Given the description of an element on the screen output the (x, y) to click on. 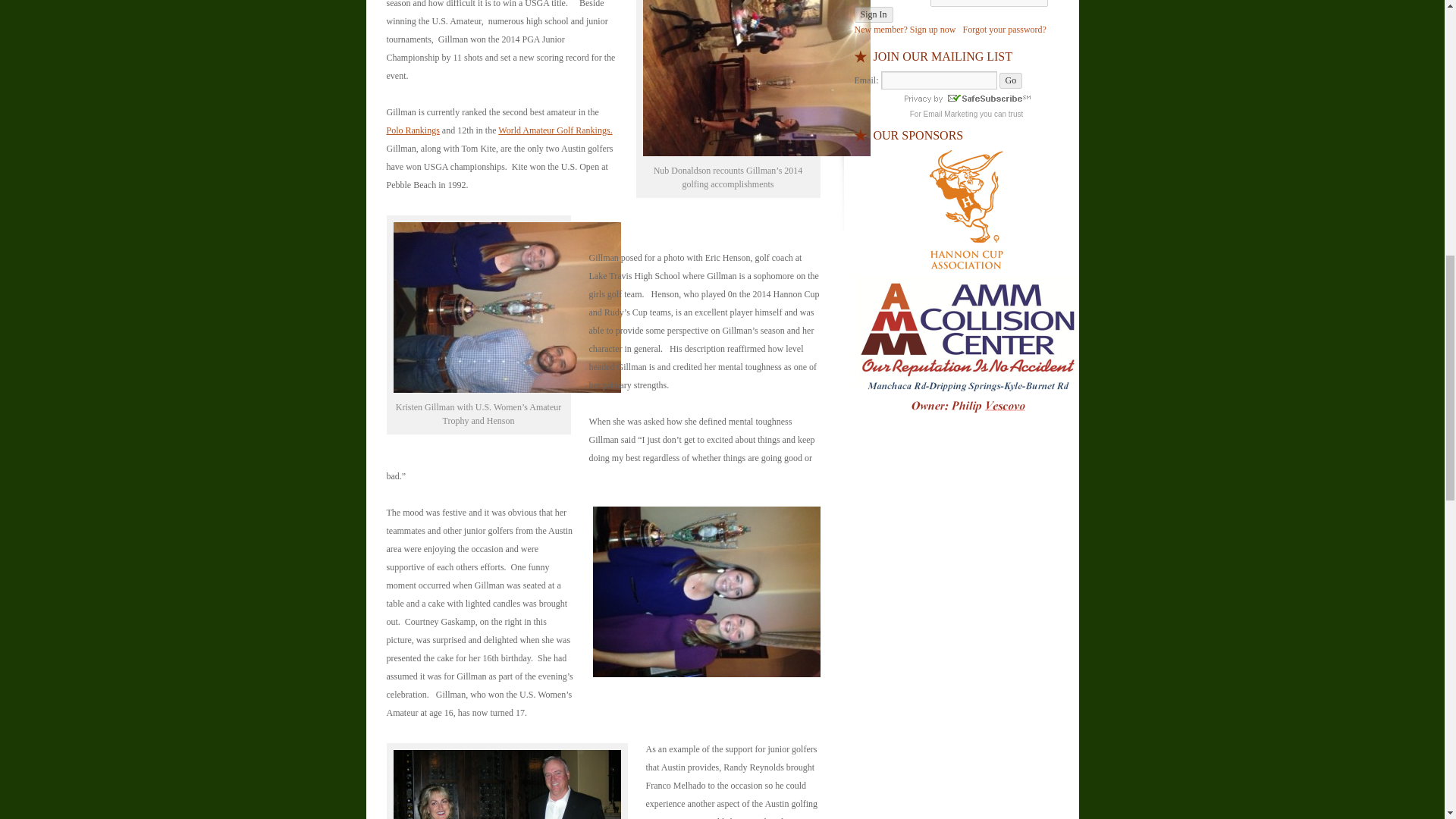
Go (1010, 80)
Sign In (872, 14)
Polo Rankings (413, 130)
